Given the description of an element on the screen output the (x, y) to click on. 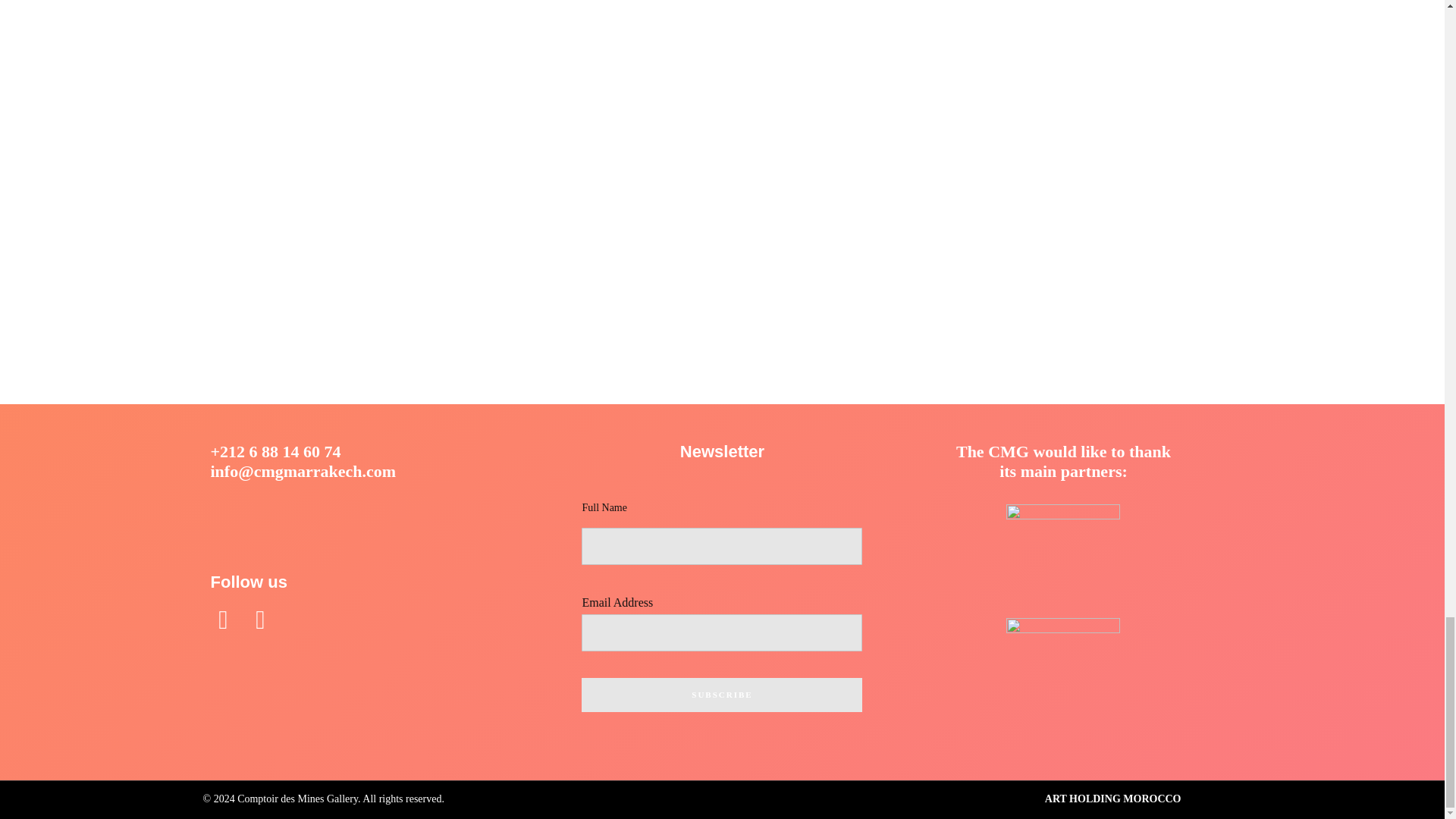
Subscribe (720, 694)
Send (722, 148)
Subscribe (720, 694)
